Given the description of an element on the screen output the (x, y) to click on. 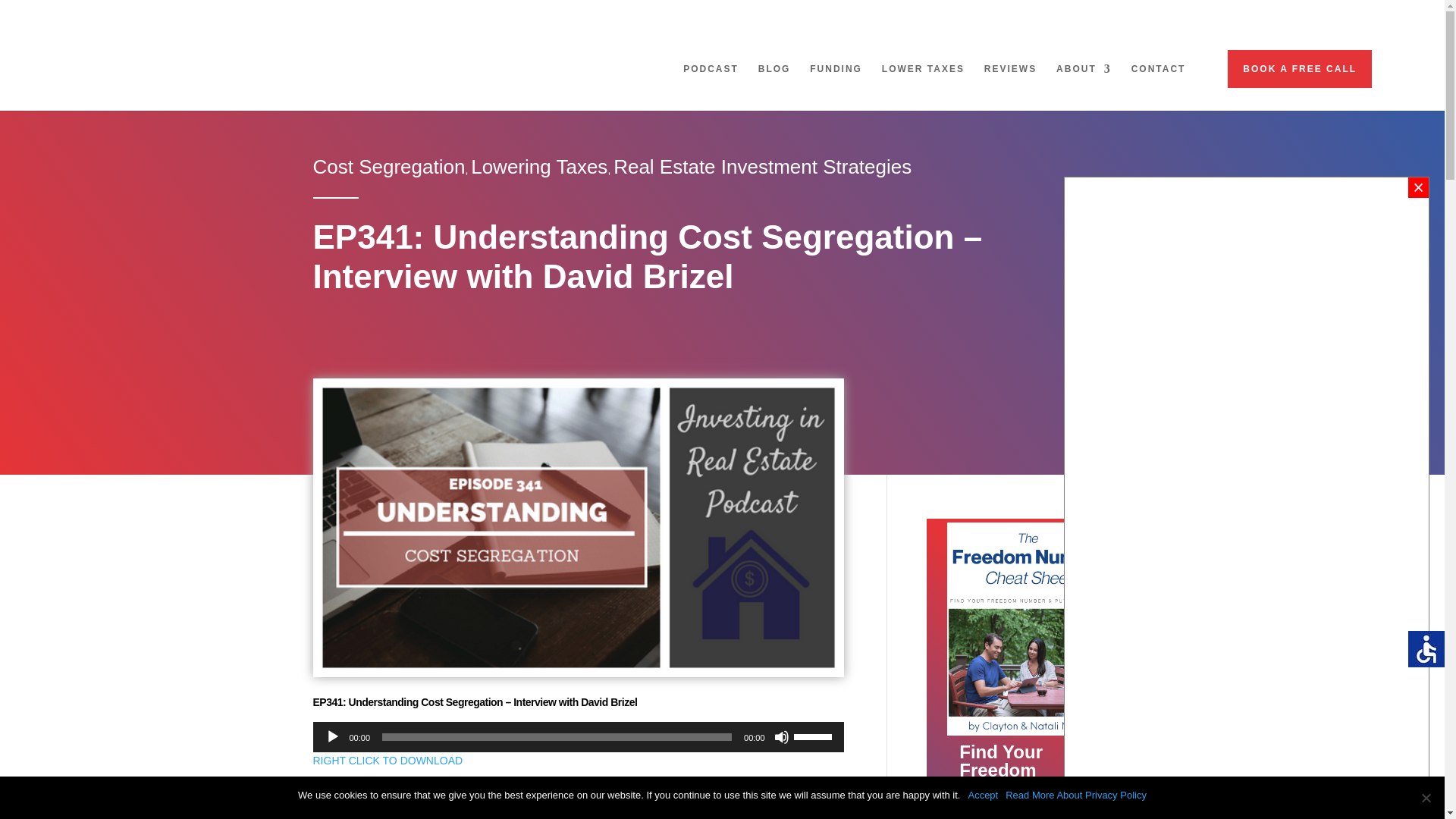
CONTACT (1158, 81)
No (1425, 797)
BLOG (774, 81)
PODCAST (710, 81)
ABOUT (1084, 81)
BOOK A FREE CALL (1299, 68)
LOWER TAXES (922, 81)
REVIEWS (1010, 81)
FUNDING (835, 81)
